Given the description of an element on the screen output the (x, y) to click on. 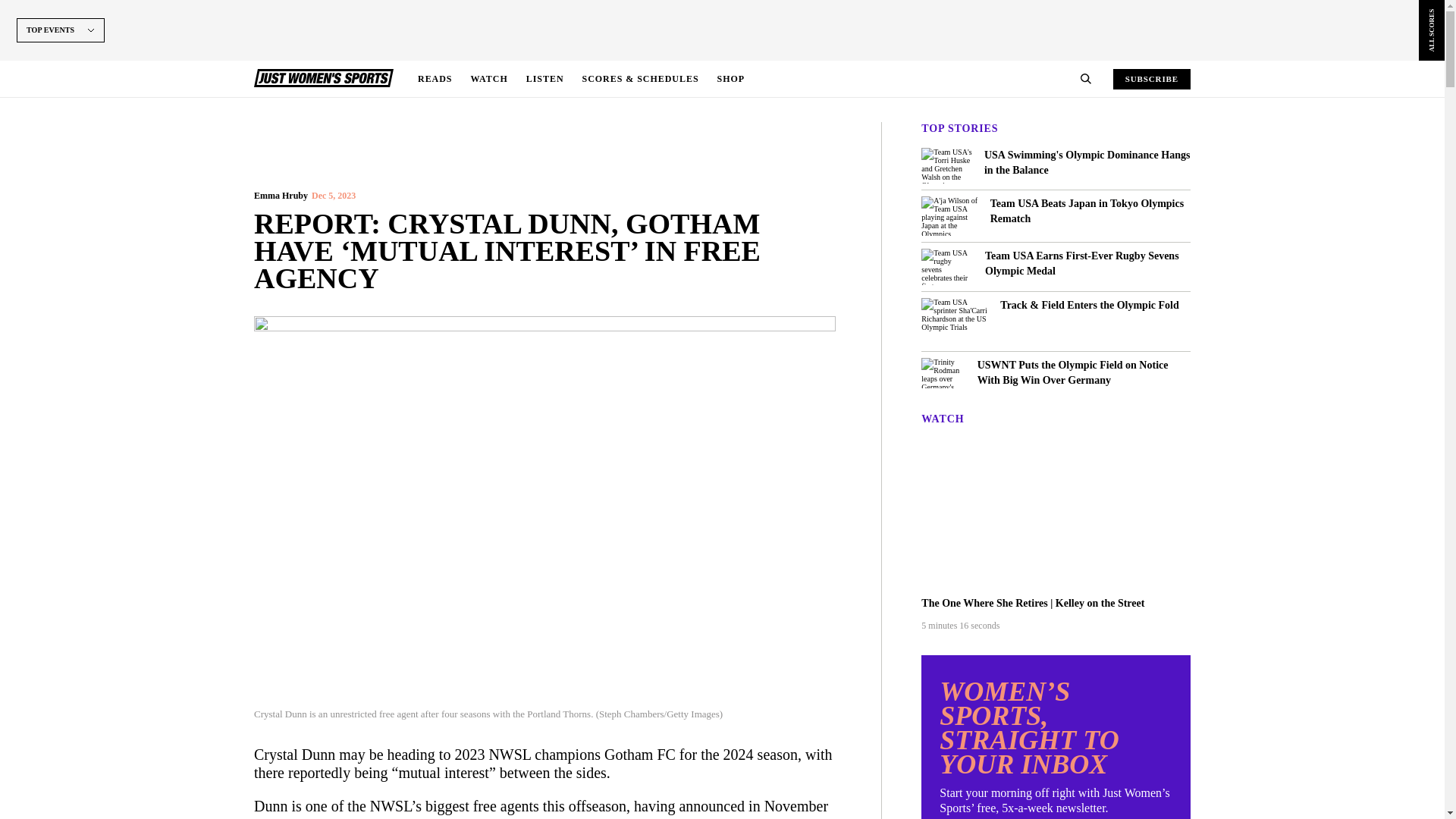
YouTube video player (1056, 513)
according to The Equalizer (601, 817)
SHOP (730, 78)
WATCH (488, 78)
SUBSCRIBE (1152, 77)
LISTEN (544, 78)
READS (435, 78)
TOP EVENTS (60, 52)
would not return to Portland (390, 817)
